Given the description of an element on the screen output the (x, y) to click on. 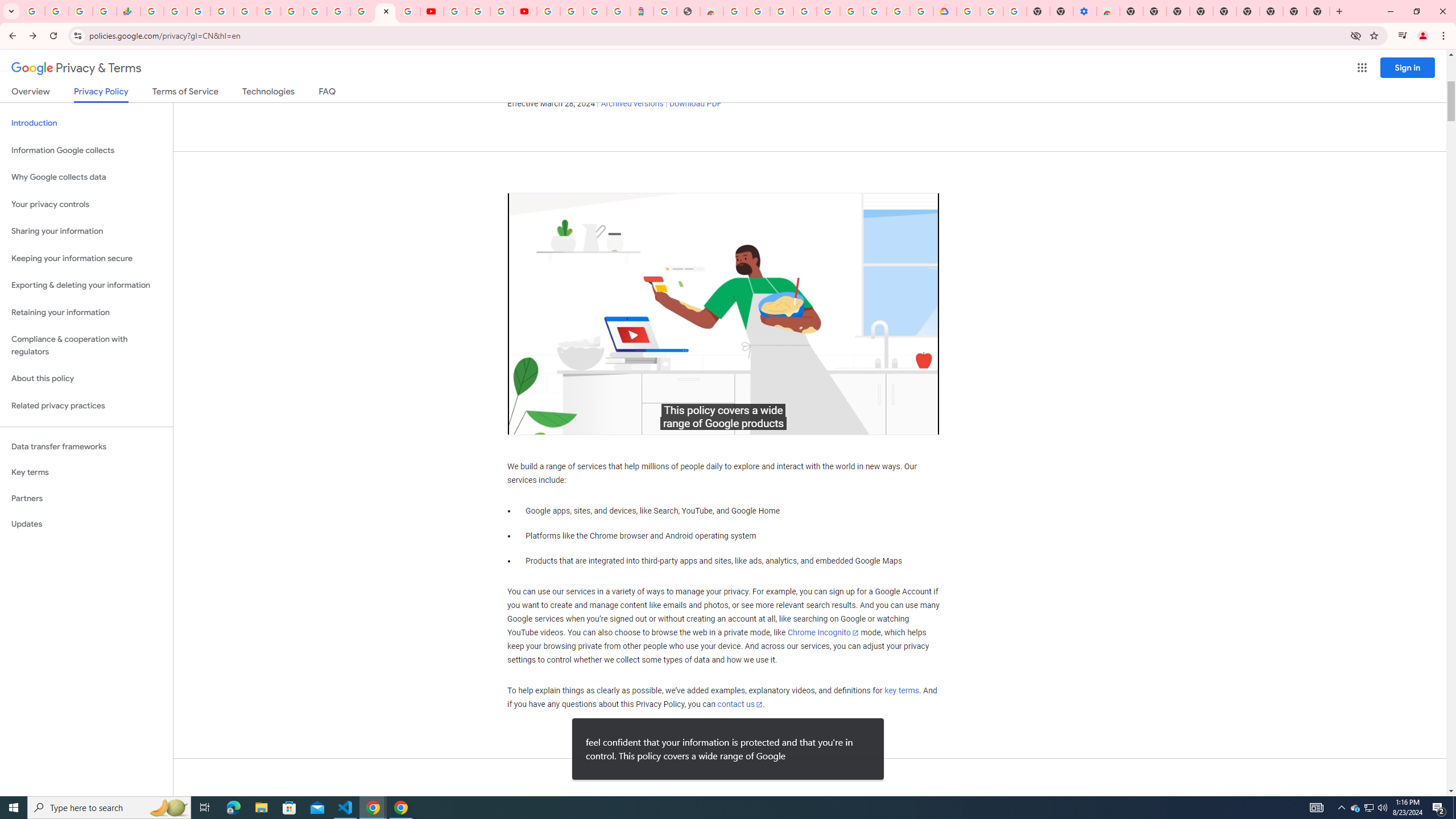
Watch on YouTube (890, 422)
Sign in - Google Accounts (968, 11)
Full screen (f) (920, 422)
YouTube (314, 11)
